Given the description of an element on the screen output the (x, y) to click on. 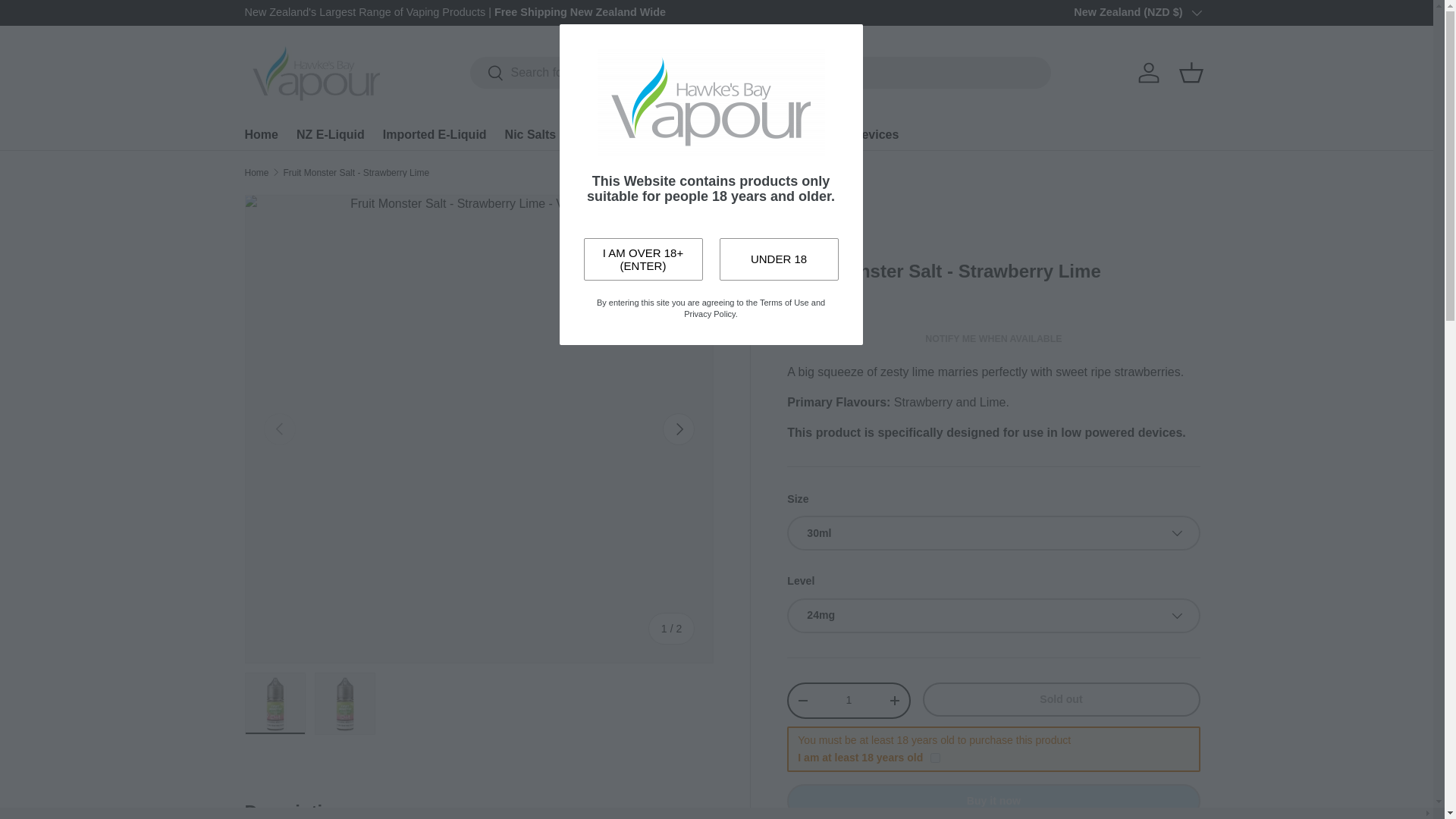
on (935, 757)
24mg (993, 615)
Previous (279, 429)
Fruit Monster Salt - Strawberry Lime (355, 172)
Log in (1147, 72)
UNDER 18 (778, 259)
Jam Monster (817, 211)
Skip to content (69, 21)
NOTIFY ME WHEN AVAILABLE (993, 338)
Basket (1190, 72)
1 (847, 699)
NZ E-Liquid (331, 134)
Search (486, 73)
Home (261, 134)
Nic Salts (530, 134)
